Given the description of an element on the screen output the (x, y) to click on. 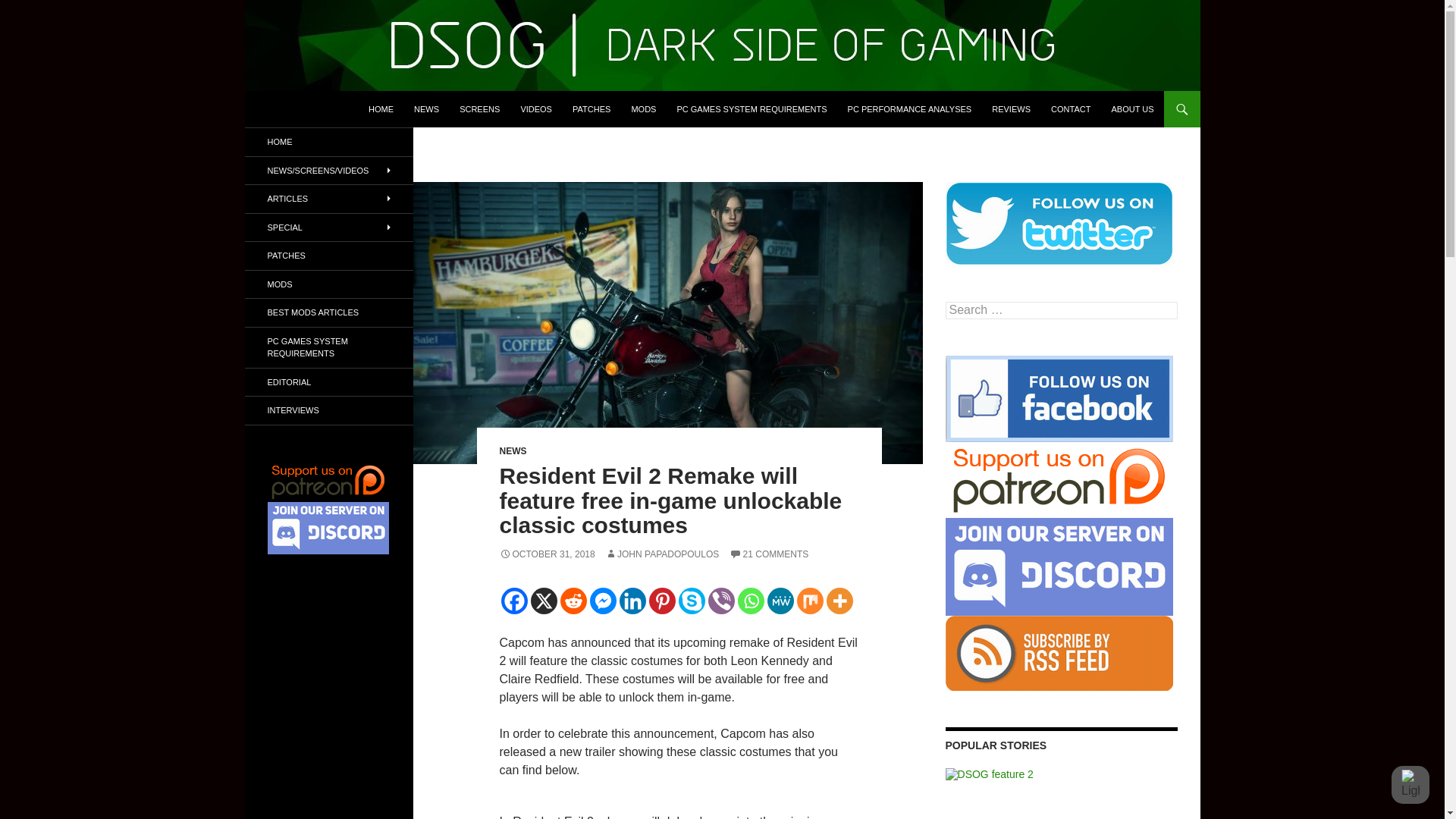
Facebook (513, 601)
OCTOBER 31, 2018 (546, 553)
21 COMMENTS (769, 553)
VIDEOS (535, 108)
SCREENS (478, 108)
Viber (721, 601)
Pinterest (662, 601)
More (840, 601)
